Given the description of an element on the screen output the (x, y) to click on. 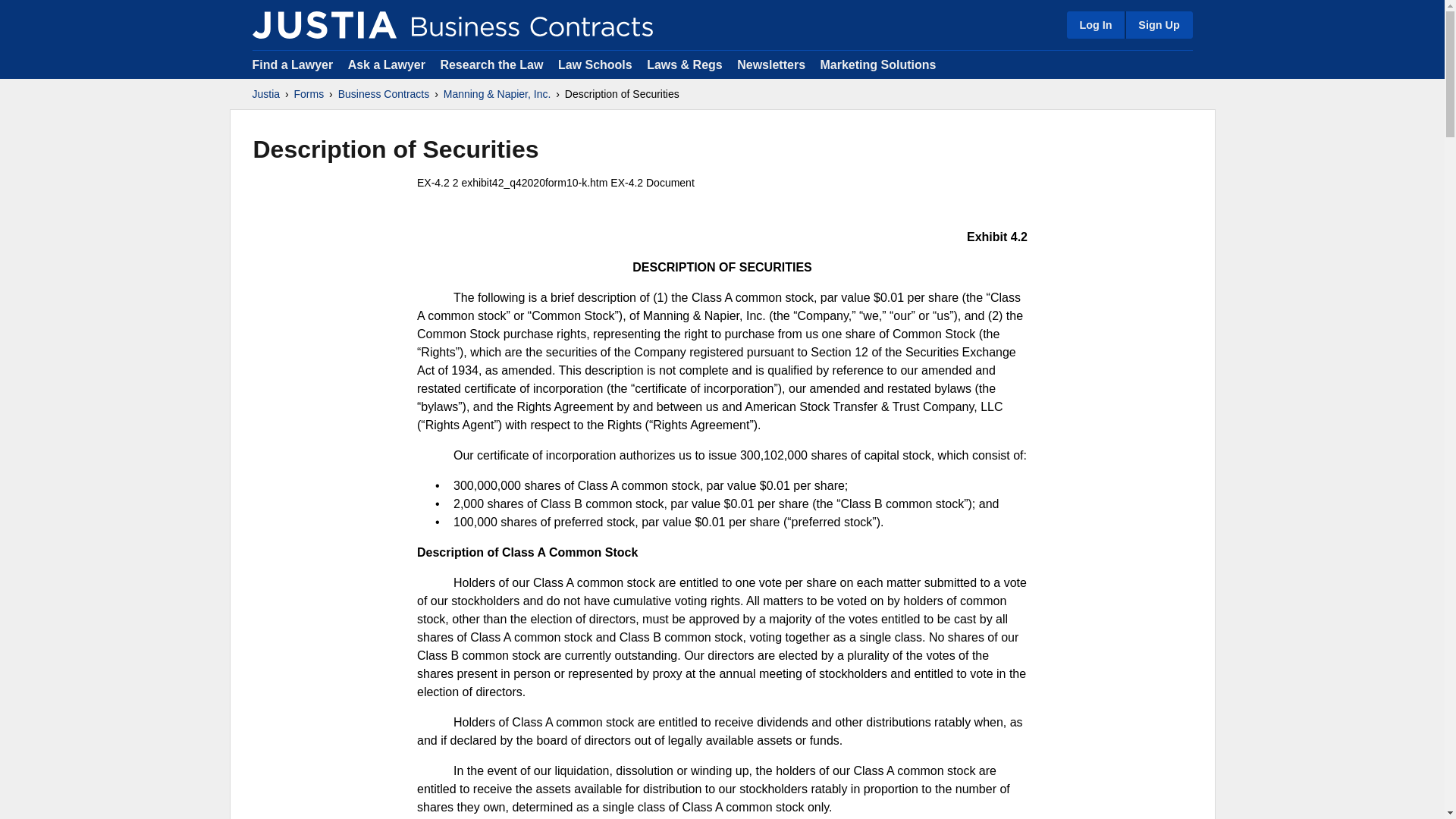
Marketing Solutions (877, 64)
Law Schools (594, 64)
Find a Lawyer (292, 64)
Forms (309, 93)
Business Contracts (383, 93)
Justia (323, 24)
Justia (265, 93)
Newsletters (770, 64)
Research the Law (491, 64)
Sign Up (1158, 24)
Ask a Lawyer (388, 64)
Log In (1094, 24)
